Given the description of an element on the screen output the (x, y) to click on. 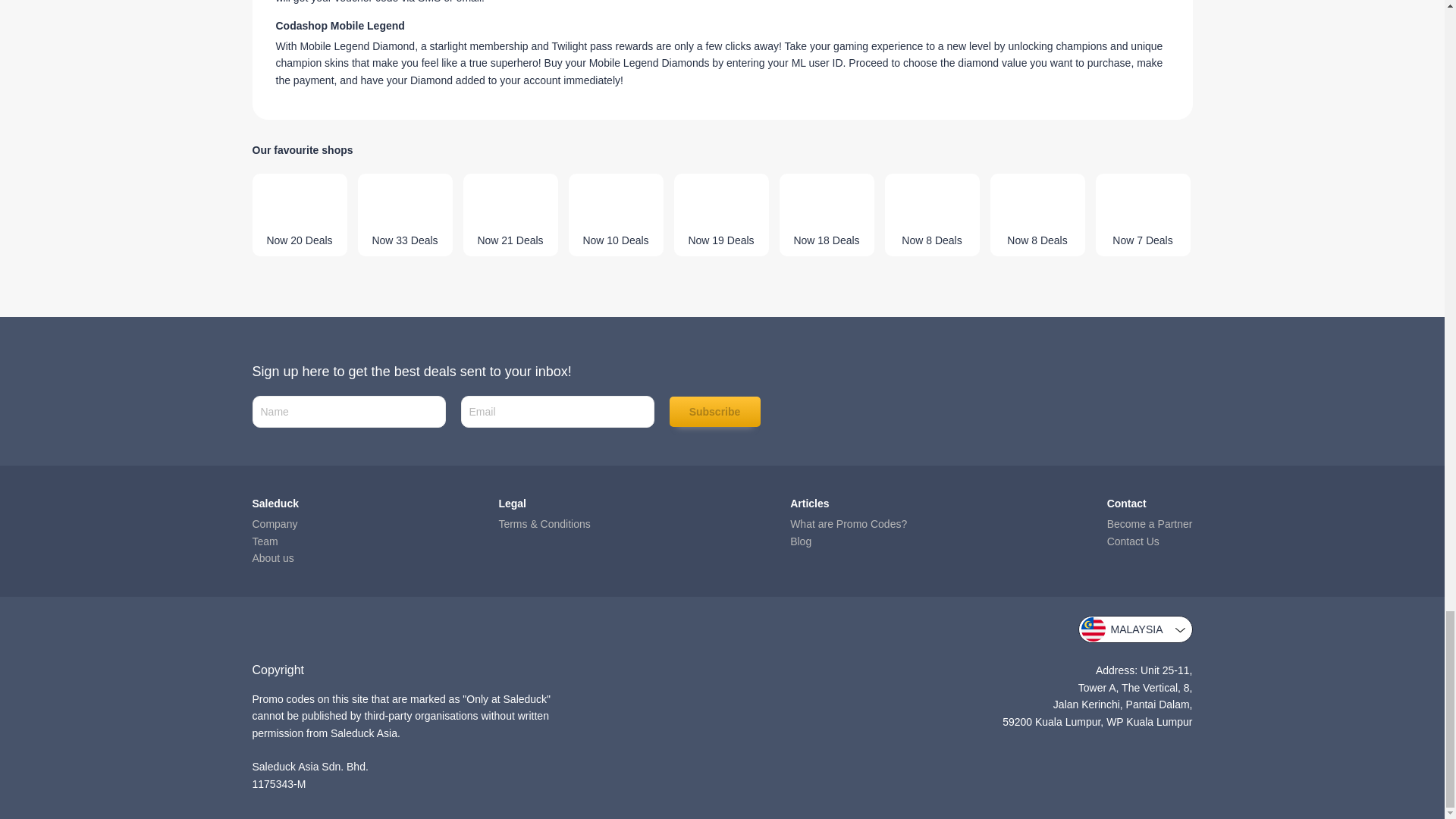
Company (274, 523)
Now 18 Deals (826, 214)
Now 7 Deals (1141, 214)
Now 8 Deals (930, 214)
Subscribe (714, 411)
Now 19 Deals (720, 214)
Now 8 Deals (1037, 214)
Now 10 Deals (616, 214)
Now 21 Deals (510, 214)
Now 20 Deals (298, 214)
